Given the description of an element on the screen output the (x, y) to click on. 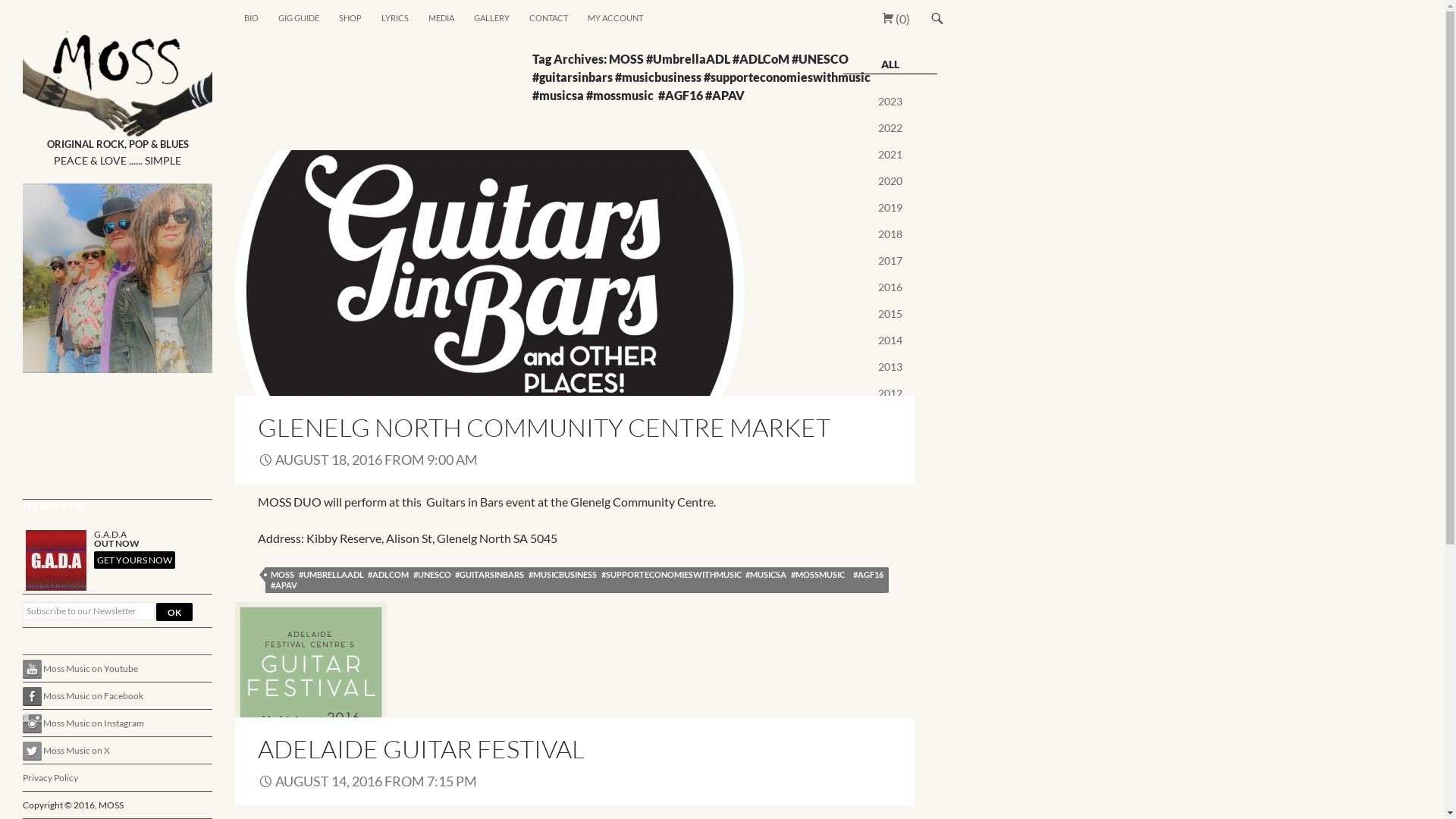
Moss Music on X Element type: text (65, 750)
2016 Element type: text (890, 286)
2013 Element type: text (890, 366)
2022 Element type: text (890, 127)
ADELAIDE GUITAR FESTIVAL Element type: text (420, 748)
2020 Element type: text (890, 180)
2019 Element type: text (890, 206)
OK Element type: text (174, 611)
2014 Element type: text (890, 339)
Moss Music on Youtube Element type: text (80, 668)
GLENELG NORTH COMMUNITY CENTRE MARKET Element type: text (543, 426)
2018 Element type: text (890, 233)
Moss Music on Instagram Element type: text (83, 722)
Moss Music Element type: text (58, 18)
GET YOURS NOW Element type: text (134, 559)
2023 Element type: text (890, 100)
2012 Element type: text (890, 392)
AUGUST 18, 2016 FROM 9:00 AM Element type: text (367, 459)
GALLERY Element type: text (491, 18)
LYRICS Element type: text (394, 18)
Privacy Policy Element type: text (50, 777)
2015 Element type: text (890, 313)
GIG GUIDE Element type: text (298, 18)
(0) Element type: text (894, 18)
SHOP Element type: text (349, 18)
AUGUST 14, 2016 FROM 7:15 PM Element type: text (366, 780)
2017 Element type: text (890, 260)
CONTACT Element type: text (548, 18)
BIO Element type: text (251, 18)
Moss Music on Facebook Element type: text (82, 695)
2021 Element type: text (890, 153)
MY ACCOUNT Element type: text (615, 18)
MEDIA Element type: text (441, 18)
